Given the description of an element on the screen output the (x, y) to click on. 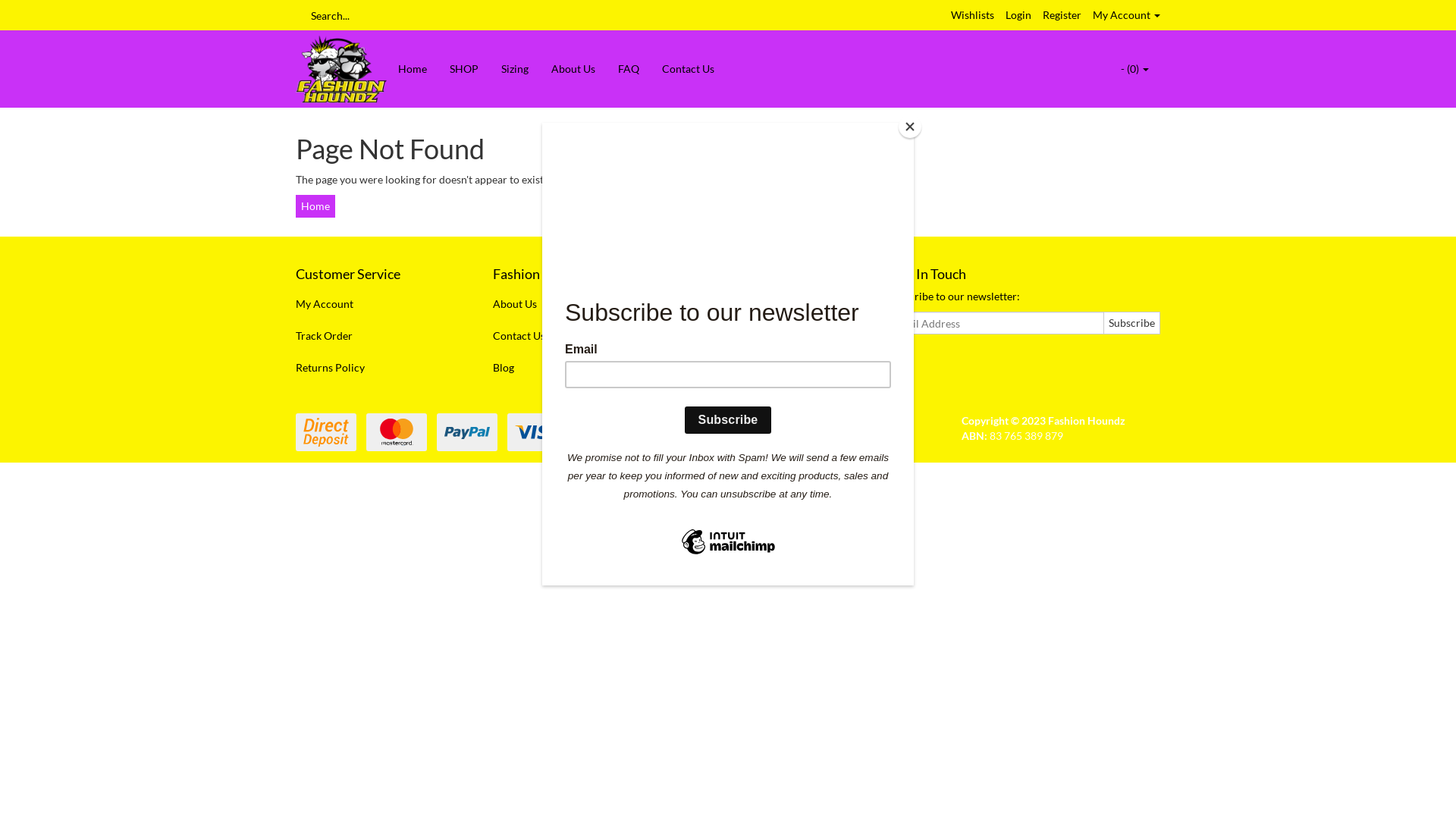
Home Element type: text (315, 205)
Register Element type: text (1061, 14)
Subscribe Element type: text (1131, 322)
Returns Policy Element type: text (377, 367)
Home Element type: text (412, 68)
Track Order Element type: text (377, 335)
My Account Element type: text (377, 303)
My Account Element type: text (1126, 14)
Wishlists Element type: text (972, 14)
About Us Element type: text (572, 68)
Contact Us Element type: text (574, 335)
Blog Element type: text (574, 367)
SHOP Element type: text (463, 68)
- (0) Element type: text (1134, 68)
Contact Us Element type: text (687, 68)
Sizing Element type: text (514, 68)
FAQ Element type: text (628, 68)
About Us Element type: text (574, 303)
Search Element type: text (300, 14)
Login Element type: text (1018, 14)
